Given the description of an element on the screen output the (x, y) to click on. 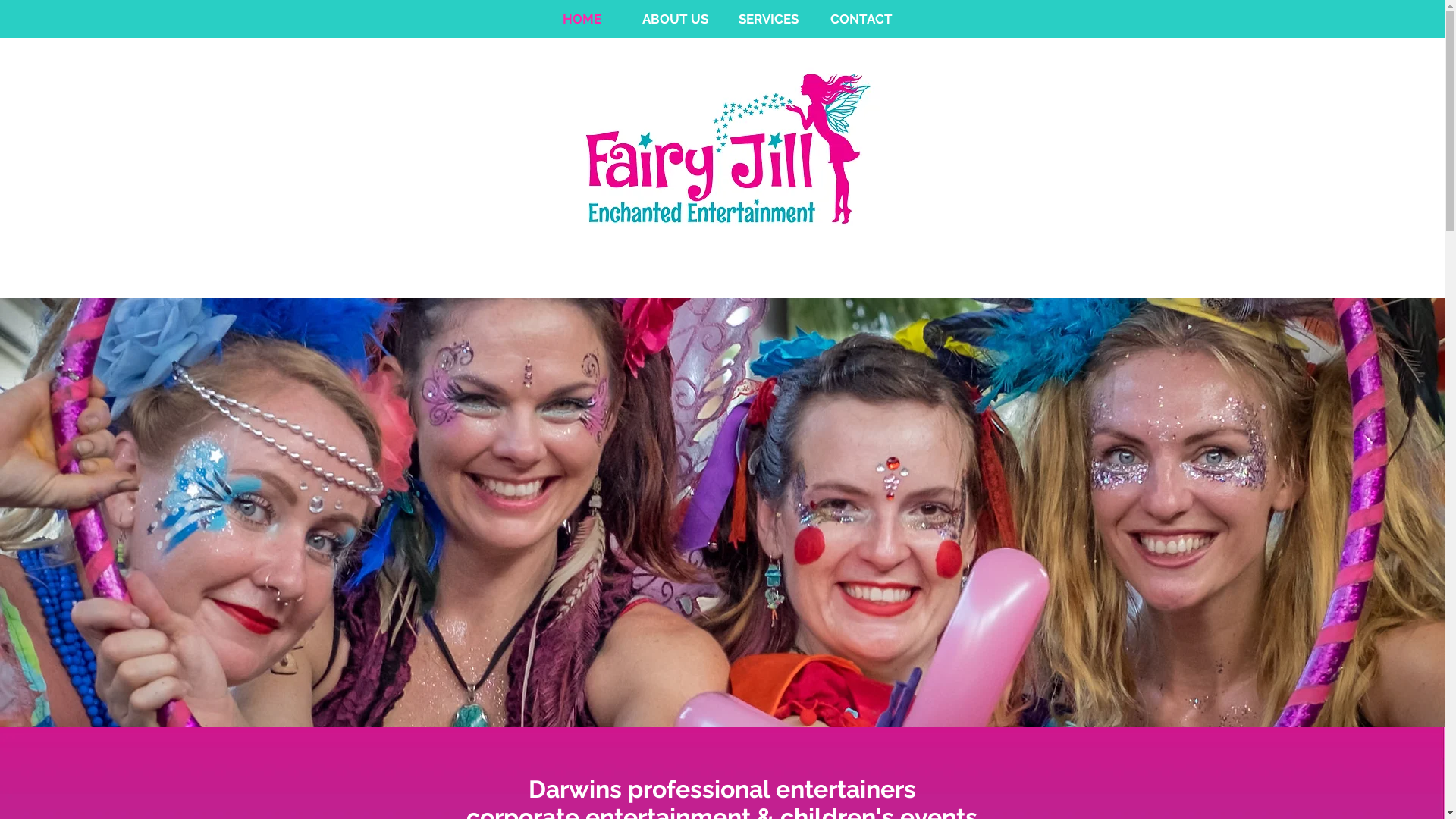
CONTACT Element type: text (860, 19)
ABOUT US Element type: text (674, 19)
SERVICES Element type: text (768, 19)
HOME Element type: text (581, 19)
